Given the description of an element on the screen output the (x, y) to click on. 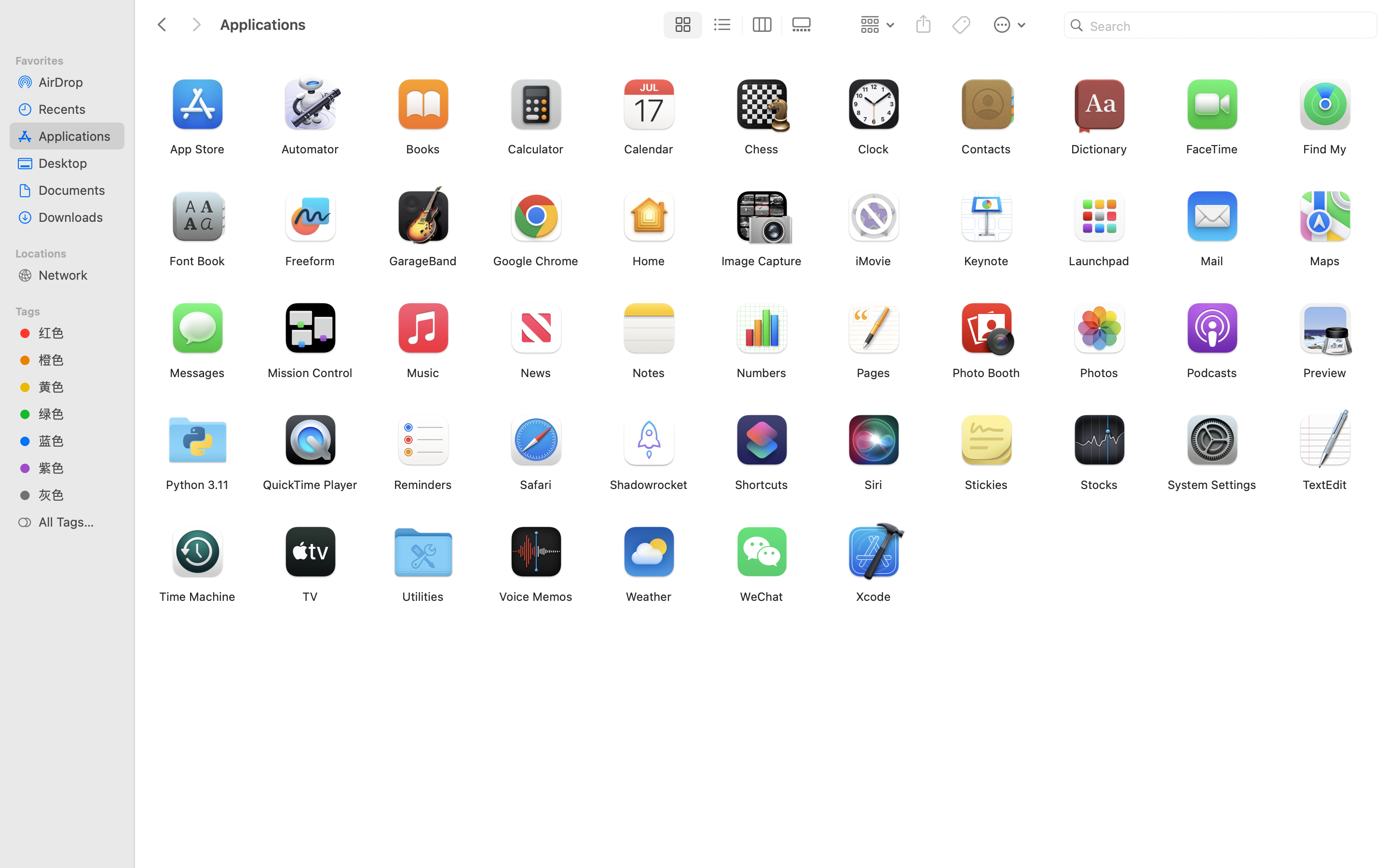
红色 Element type: AXStaticText (77, 332)
0 Element type: AXRadioButton (804, 24)
Tags Element type: AXStaticText (72, 309)
黄色 Element type: AXStaticText (77, 386)
蓝色 Element type: AXStaticText (77, 440)
